Given the description of an element on the screen output the (x, y) to click on. 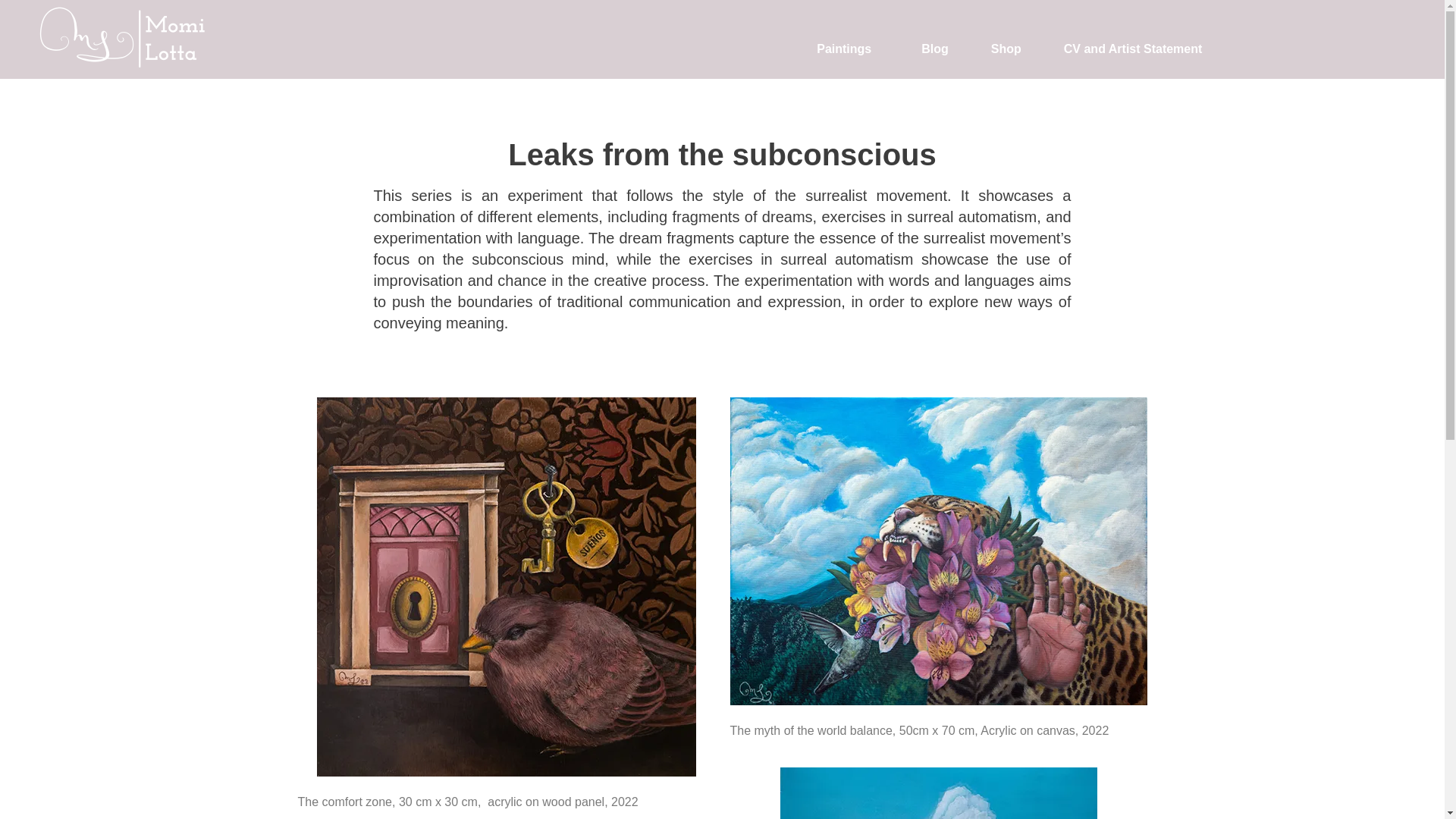
surrealism magical realism (938, 550)
surrealism magical realism popsurrealism (937, 793)
Paintings (847, 48)
CV and Artist Statement (1133, 48)
